Given the description of an element on the screen output the (x, y) to click on. 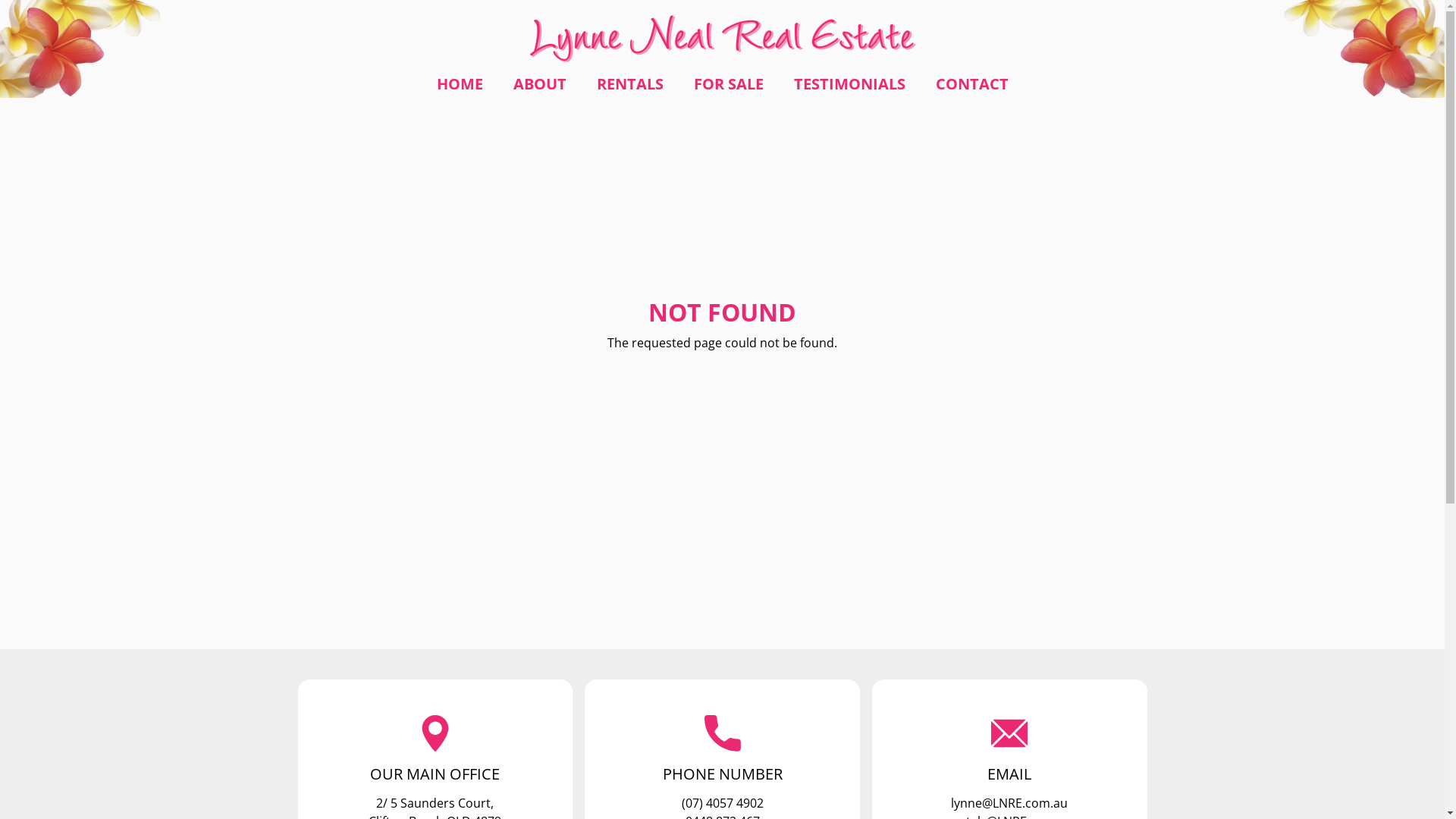
HOME Element type: text (459, 84)
FOR SALE Element type: text (727, 84)
RENTALS Element type: text (628, 84)
TESTIMONIALS Element type: text (848, 84)
ABOUT Element type: text (538, 84)
CONTACT Element type: text (971, 84)
